Given the description of an element on the screen output the (x, y) to click on. 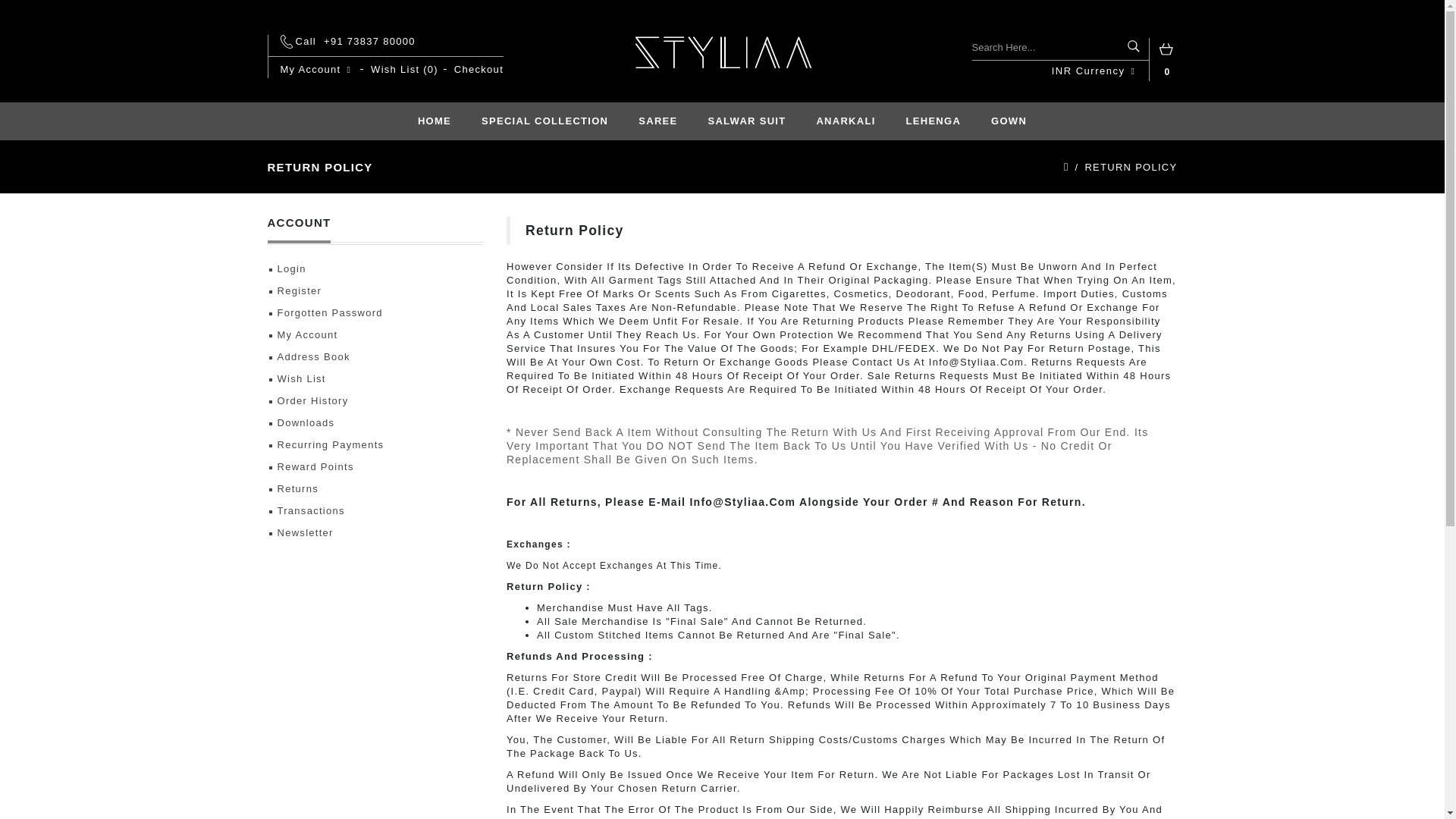
Checkout (478, 69)
LEHENGA (933, 121)
RETURN POLICY (1130, 166)
SAREE (658, 121)
Login (374, 268)
INR Currency (1094, 70)
ANARKALI (844, 121)
My Account (318, 69)
HOME (434, 121)
Checkout (478, 69)
SALWAR SUIT (747, 121)
Forgotten Password (374, 313)
Styliaa.com (721, 52)
SPECIAL COLLECTION (544, 121)
My Account (318, 69)
